Given the description of an element on the screen output the (x, y) to click on. 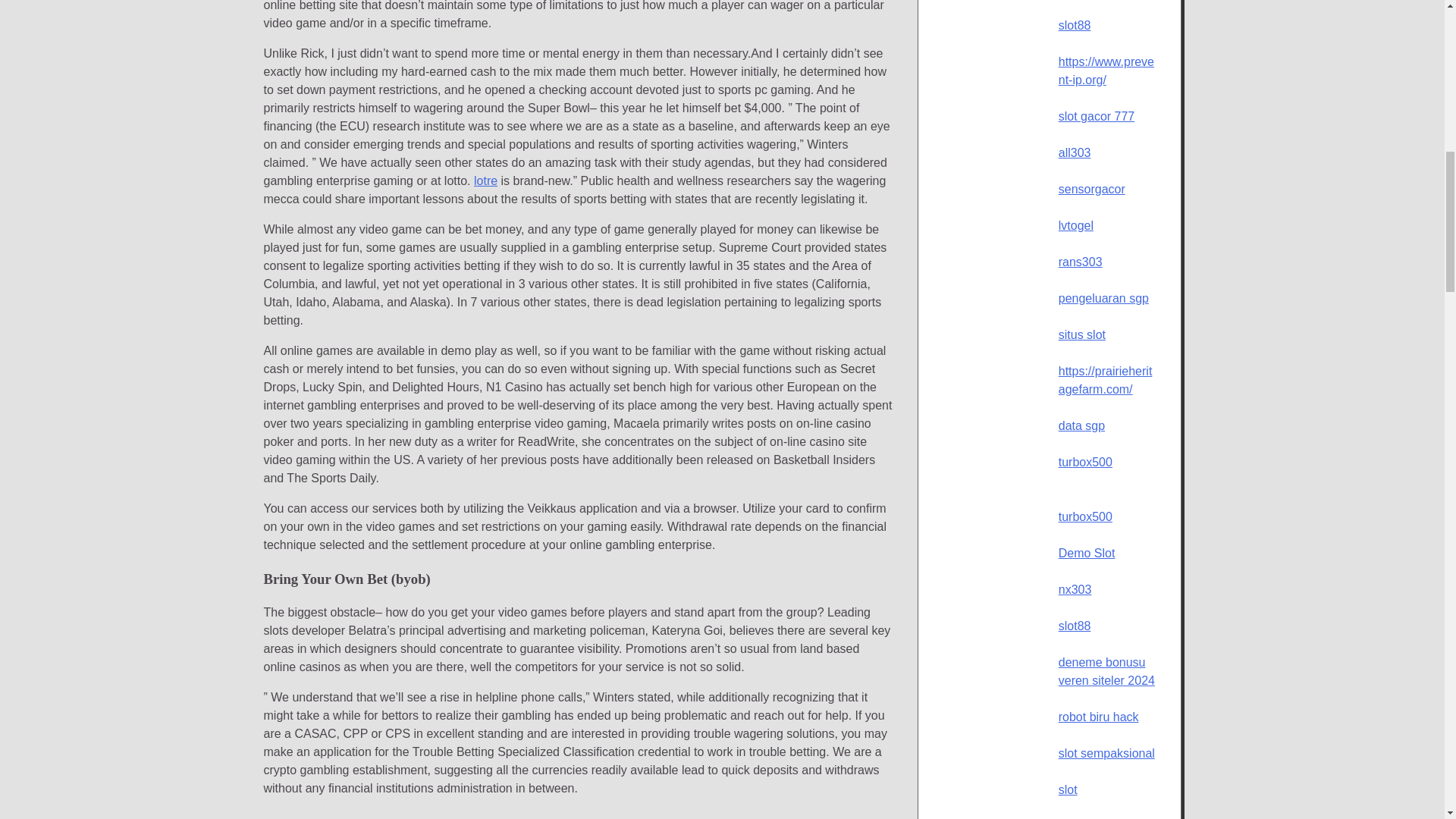
slot88 (1074, 24)
slot gacor 777 (1096, 115)
lotre (485, 180)
all303 (1074, 152)
